Given the description of an element on the screen output the (x, y) to click on. 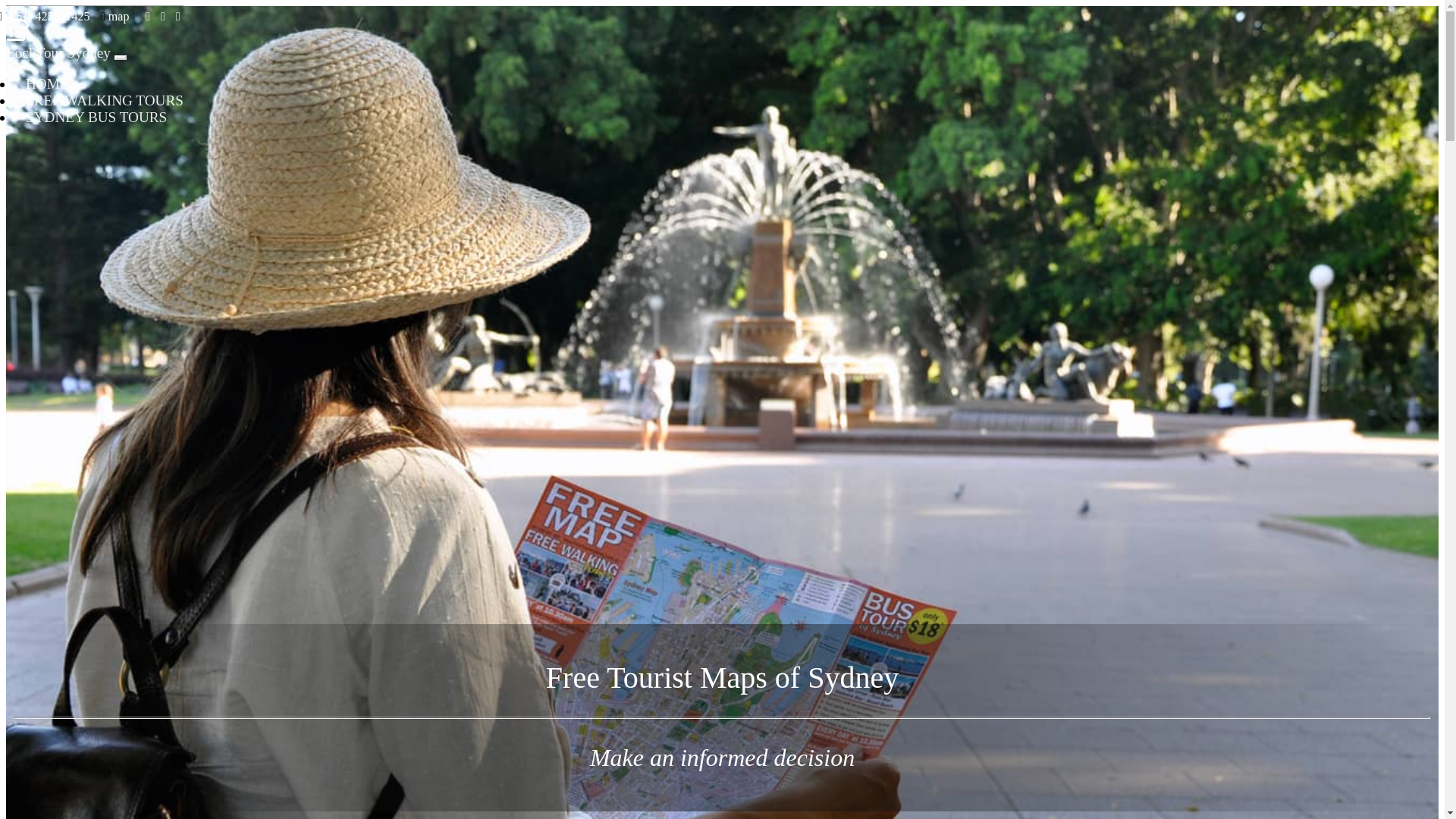
Locl Tour Sydney Element type: text (58, 52)
Tripadvisor page of free walking tour Sydney and the Rocks Element type: hover (177, 16)
Facebook page of free walking tour Sydney and the Rocks Element type: hover (147, 16)
FREE WALKING TOURS Element type: text (98, 100)
SYDNEY BUS TOURS Element type: text (89, 117)
map Element type: text (114, 16)
HOME Element type: text (41, 83)
Instagram page of free walking tour Sydney and the Rocks Element type: hover (162, 16)
